Given the description of an element on the screen output the (x, y) to click on. 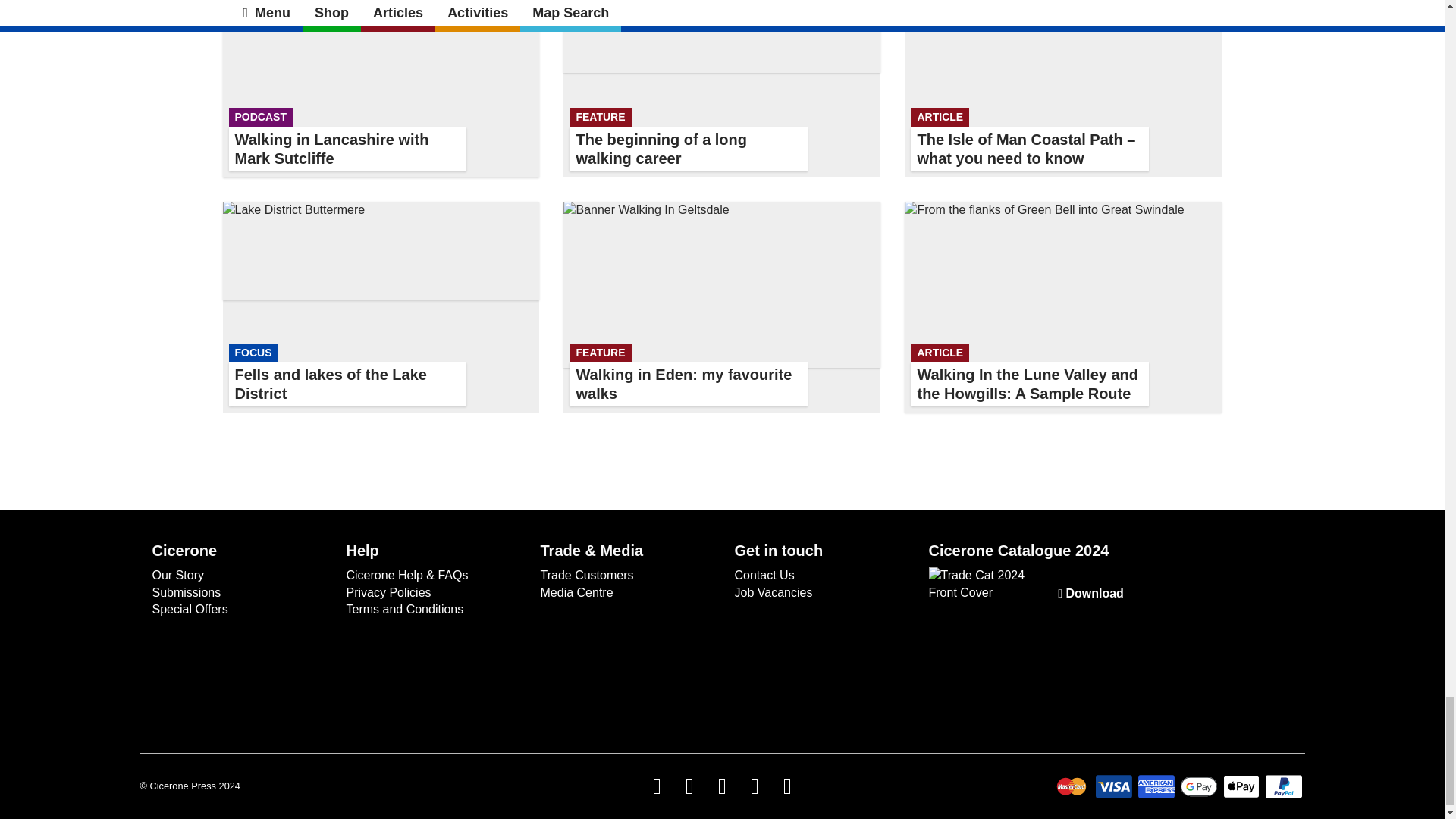
Special Offers (381, 307)
Our Story (721, 307)
Submissions (381, 88)
